Given the description of an element on the screen output the (x, y) to click on. 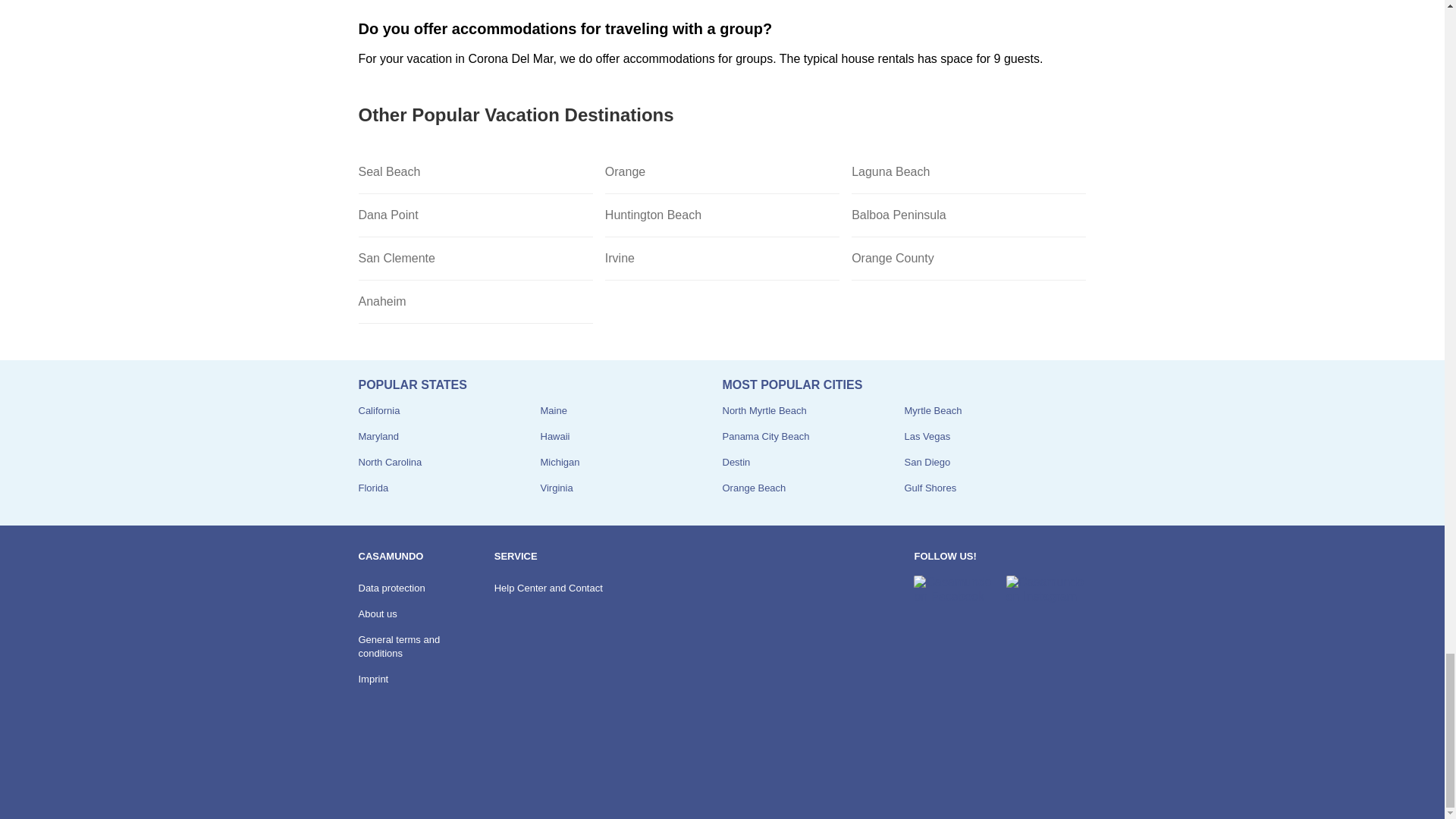
Seal Beach (475, 172)
Orange (722, 172)
Book holiday homes and apartments - Casamundo (399, 776)
San Clemente (475, 258)
Seal Beach (475, 172)
Irvine (722, 258)
Dana Point (475, 215)
Laguna Beach (968, 172)
Balboa Peninsula (968, 215)
Casamundo on Facebook (953, 589)
Orange (722, 172)
Laguna Beach (968, 172)
Huntington Beach (722, 215)
Anaheim (475, 301)
Casamundo on Instagram (1046, 589)
